Given the description of an element on the screen output the (x, y) to click on. 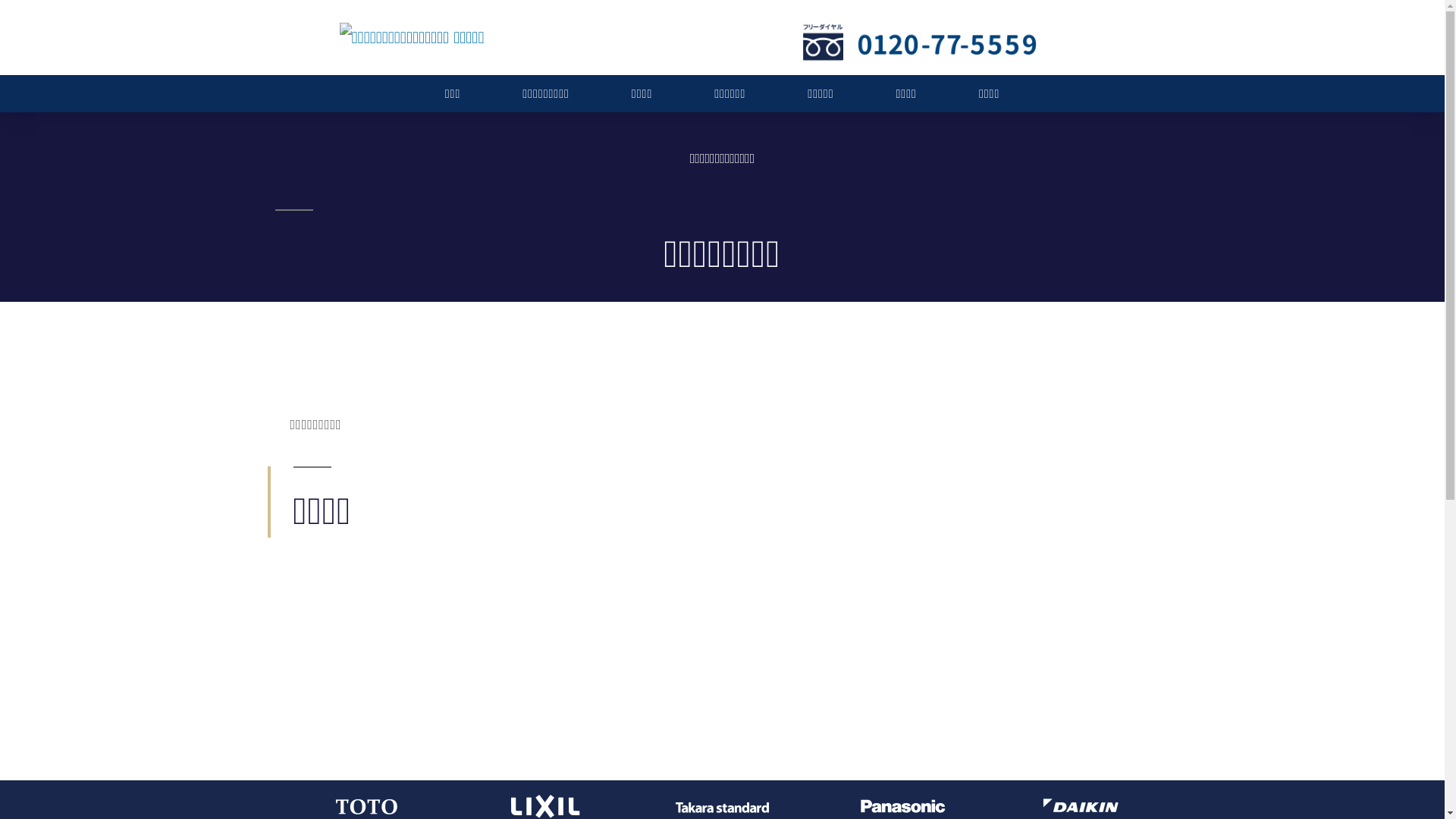
tel Element type: hover (918, 39)
logo Element type: hover (411, 37)
